Given the description of an element on the screen output the (x, y) to click on. 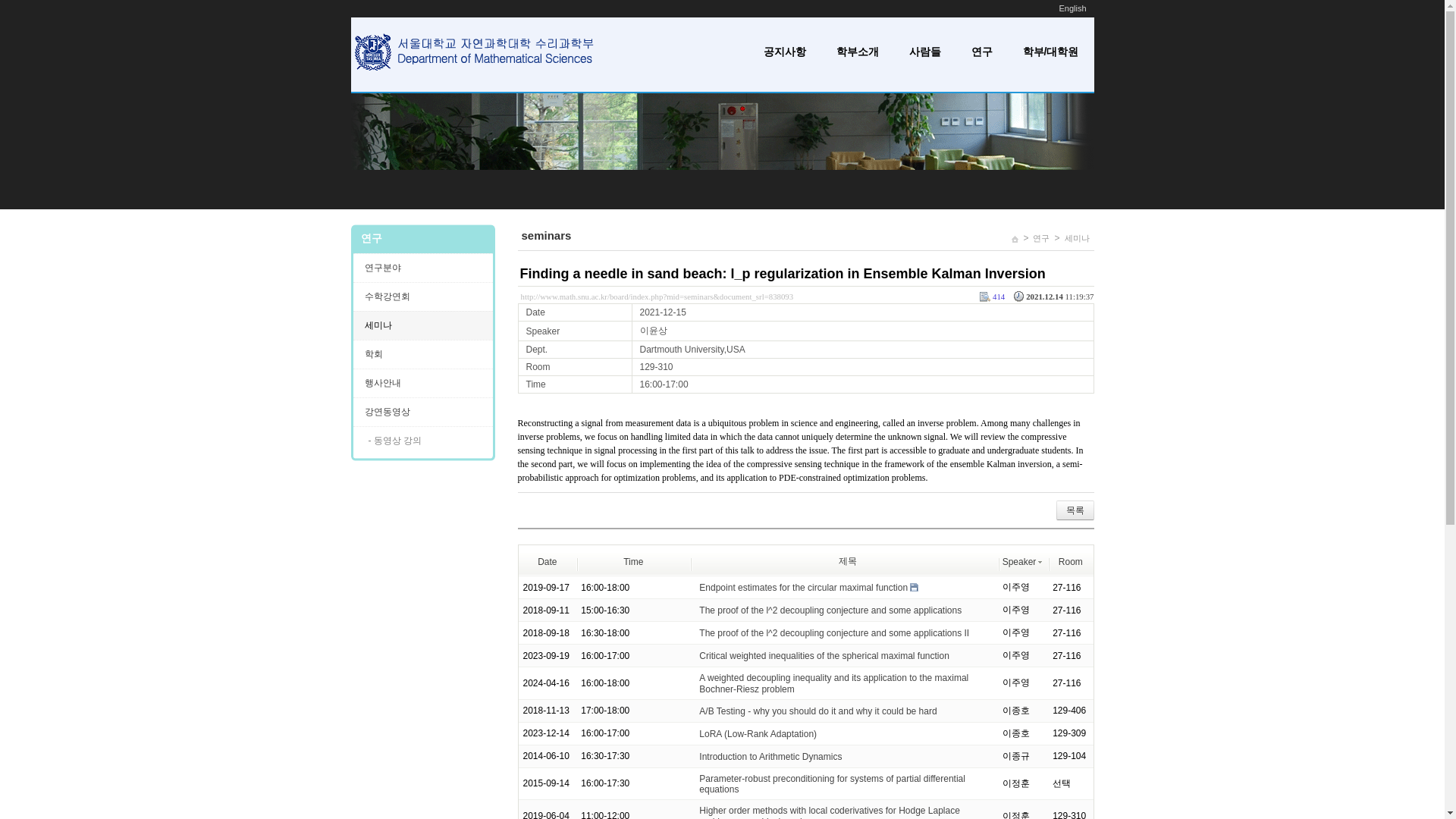
Room (1070, 561)
Time (633, 561)
Date (546, 561)
Speaker (1023, 561)
file (914, 587)
Endpoint estimates for the circular maximal function (802, 587)
English (1072, 8)
